Given the description of an element on the screen output the (x, y) to click on. 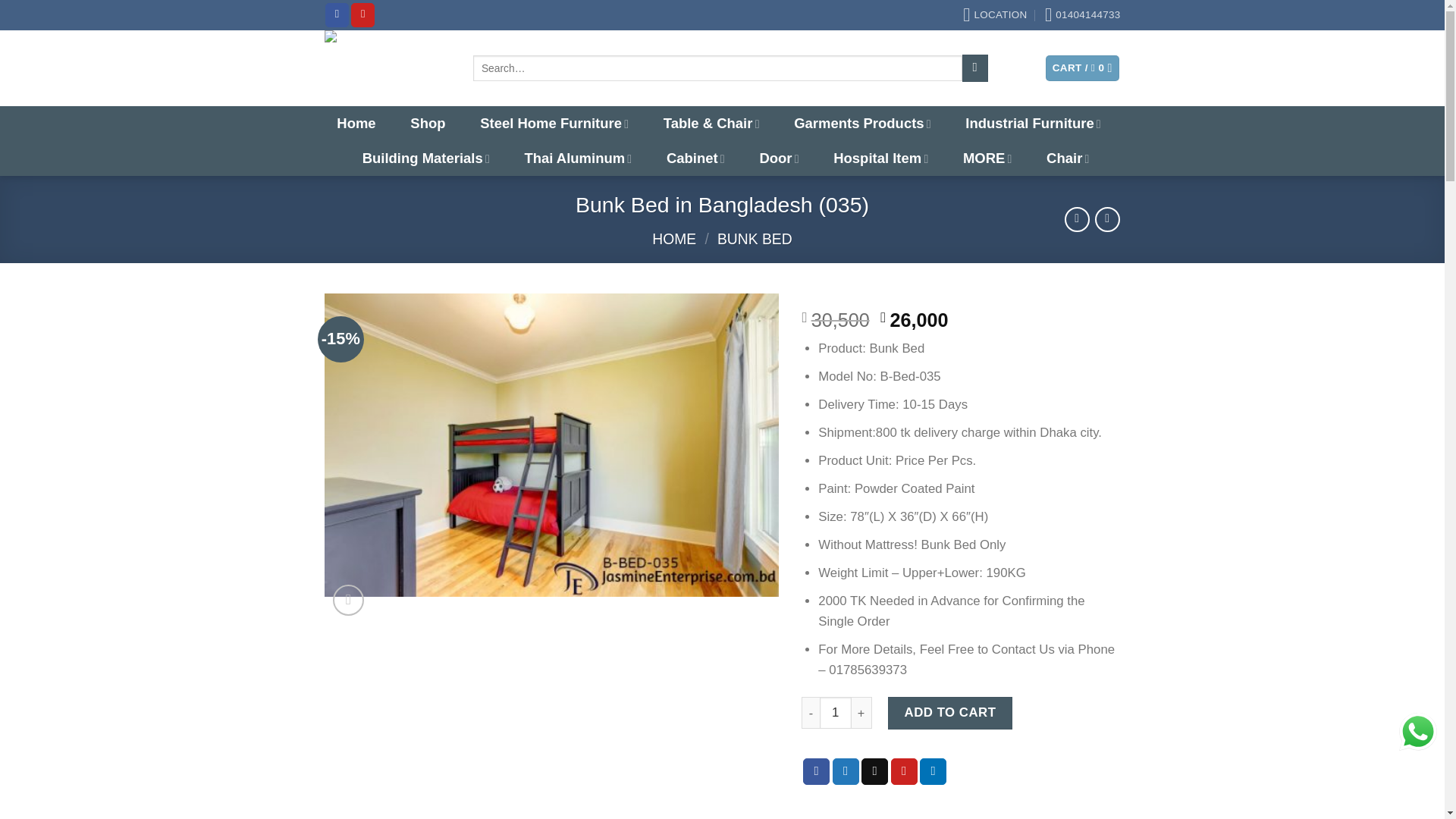
1 (835, 712)
Follow on Pinterest (362, 14)
Search (974, 67)
Shop (426, 123)
LOGIN (1005, 67)
Jasmine Enterprise - World Class Furniture Shop (386, 68)
Follow on Facebook (336, 14)
LOCATION (994, 15)
Steel Home Furniture (553, 123)
Garments Products (861, 123)
01404144733 (1083, 15)
01404144733 (1083, 15)
Home (355, 123)
Cart (1082, 68)
